Given the description of an element on the screen output the (x, y) to click on. 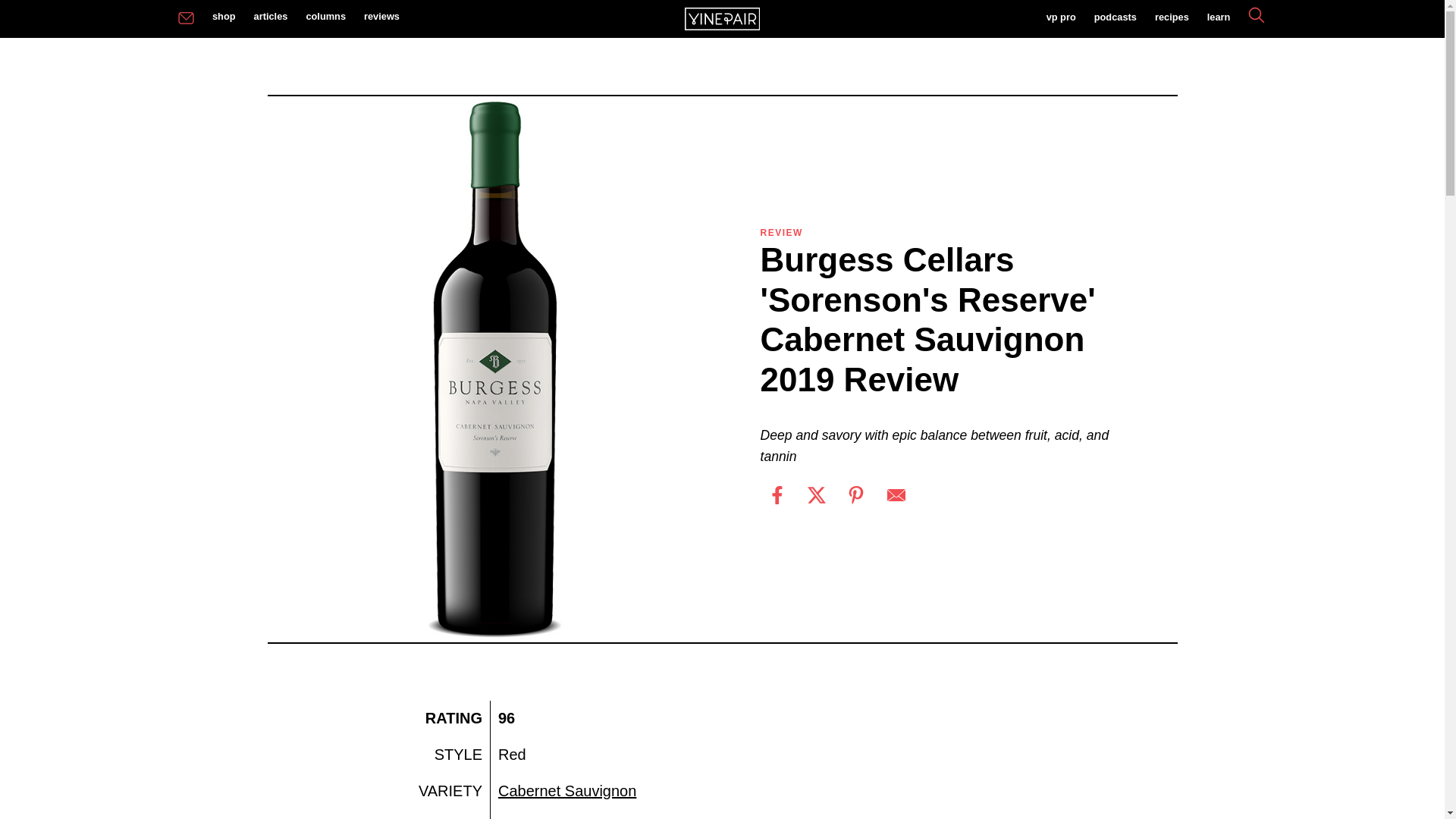
articles (270, 17)
podcasts (1114, 17)
reviews (382, 17)
vp pro (1060, 17)
shop (223, 17)
columns (326, 17)
